Given the description of an element on the screen output the (x, y) to click on. 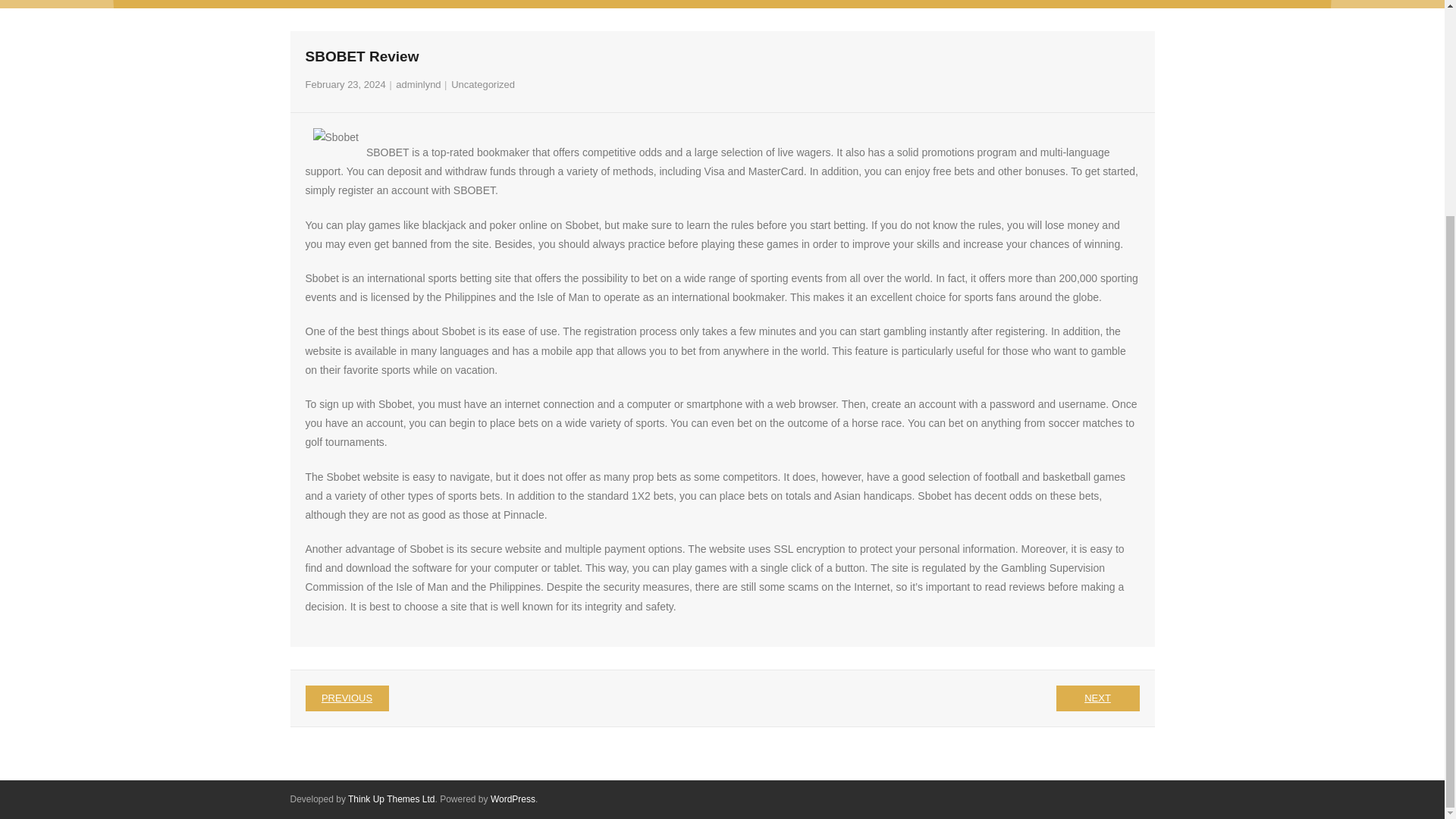
View all posts by adminlynd (418, 84)
WordPress (512, 798)
SBOBET Review (344, 84)
adminlynd (418, 84)
Think Up Themes Ltd (391, 798)
Uncategorized (483, 84)
PREVIOUS (346, 698)
February 23, 2024 (344, 84)
NEXT (1096, 698)
